Given the description of an element on the screen output the (x, y) to click on. 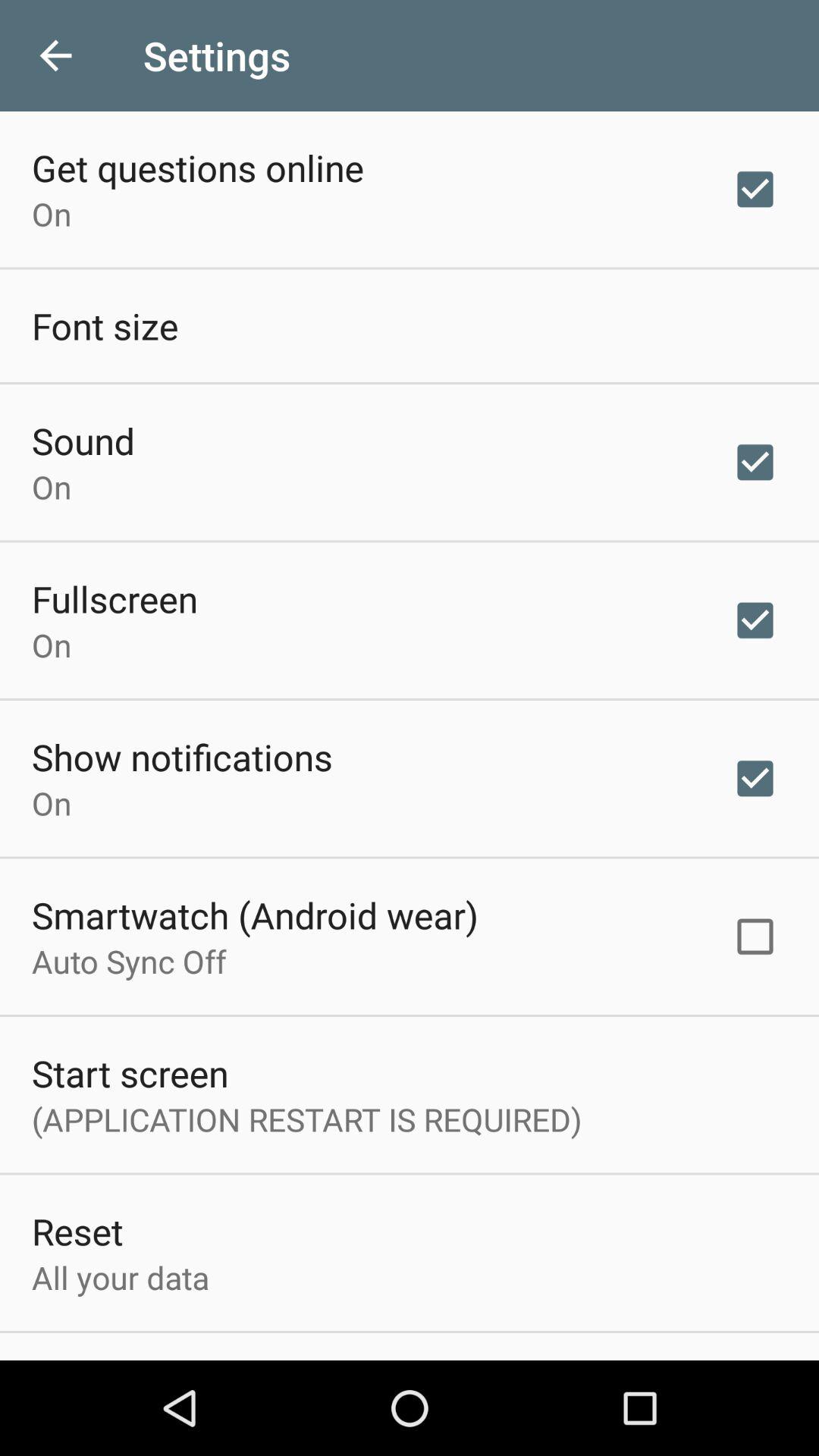
swipe to the start screen (129, 1072)
